Given the description of an element on the screen output the (x, y) to click on. 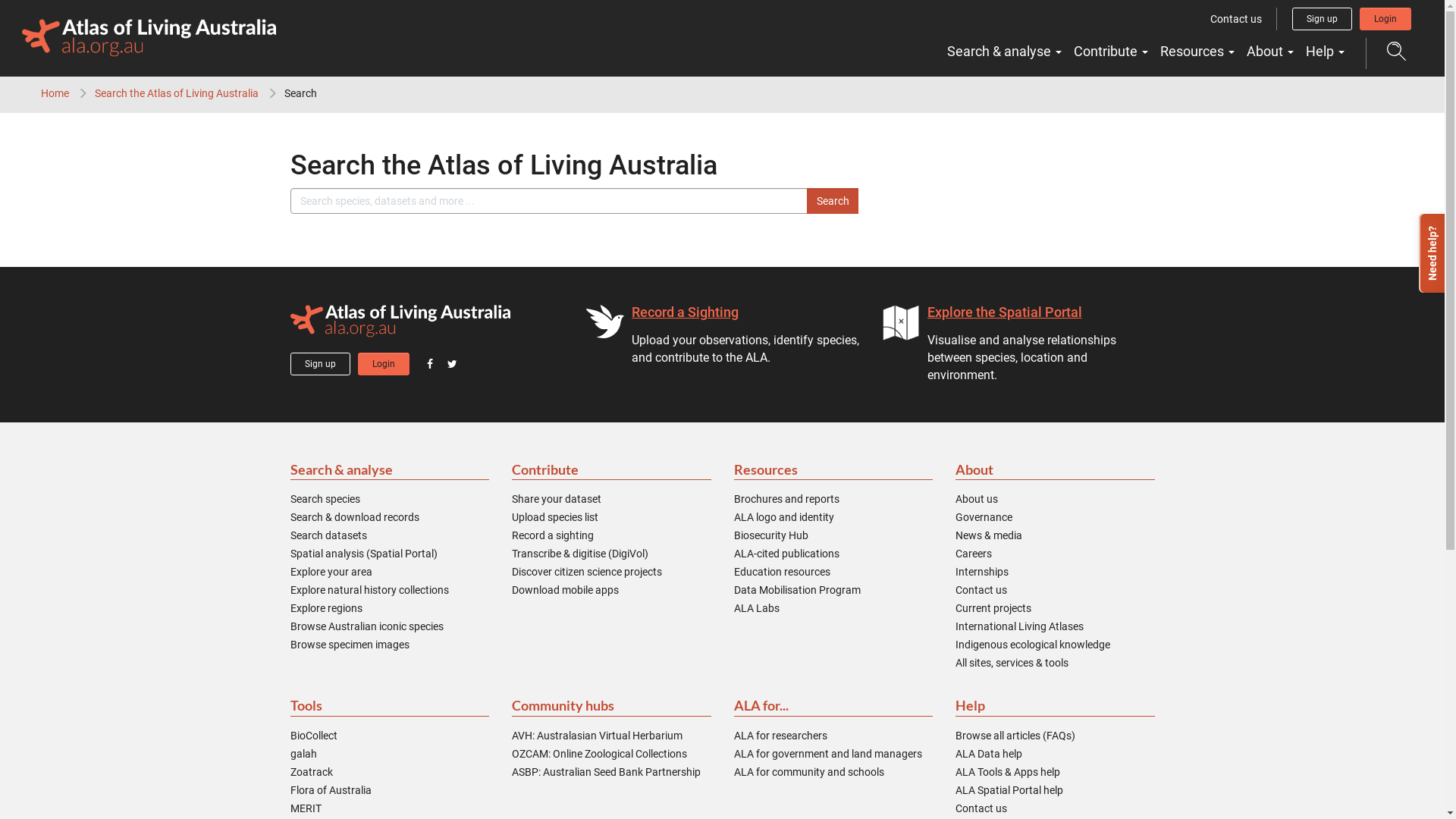
ALA Data help Element type: text (988, 753)
Flora of Australia Element type: text (329, 789)
Explore your area Element type: text (330, 571)
About us Element type: text (976, 498)
Education resources Element type: text (782, 571)
Search datasets Element type: text (327, 534)
Record a Sighting Element type: text (683, 312)
Indigenous ecological knowledge Element type: text (1032, 644)
Contact us Element type: text (981, 807)
News & media Element type: text (988, 534)
Share your dataset Element type: text (556, 498)
Record a sighting Element type: text (552, 534)
International Living Atlases Element type: text (1019, 625)
About Element type: text (1054, 470)
Login Element type: text (383, 363)
Resources Element type: text (1197, 51)
Search & download records Element type: text (353, 516)
Contribute Element type: text (1110, 51)
OZCAM: Online Zoological Collections Element type: text (599, 753)
Download mobile apps Element type: text (564, 589)
Spatial analysis (Spatial Portal) Element type: text (362, 553)
Data Mobilisation Program Element type: text (797, 589)
Zoatrack Element type: text (310, 771)
Explore regions Element type: text (325, 607)
Biosecurity Hub Element type: text (771, 534)
Search the Atlas of Living Australia Element type: text (176, 93)
Home Element type: text (54, 93)
Browse specimen images Element type: text (348, 644)
Brochures and reports Element type: text (786, 498)
Search & analyse Element type: text (389, 470)
Resources Element type: text (833, 470)
ALA for researchers Element type: text (780, 735)
Search & analyse Element type: text (1004, 51)
About Element type: text (1269, 51)
Tools Element type: text (389, 706)
Explore natural history collections Element type: text (368, 589)
ALA Labs Element type: text (756, 607)
Internships Element type: text (981, 571)
ALA logo and identity Element type: text (784, 516)
Browse Australian iconic species Element type: text (365, 625)
All sites, services & tools Element type: text (1011, 662)
Governance Element type: text (983, 516)
Contact us Element type: text (981, 589)
Search Element type: text (832, 200)
Transcribe & digitise (DigiVol) Element type: text (579, 553)
Discover citizen science projects Element type: text (586, 571)
Search species Element type: text (324, 498)
AVH: Australasian Virtual Herbarium Element type: text (596, 735)
Contact us Element type: text (1235, 18)
MERIT Element type: text (304, 807)
Help Element type: text (1054, 706)
BioCollect Element type: text (312, 735)
Explore the Spatial Portal Element type: text (1003, 312)
Login Element type: text (1385, 18)
galah Element type: text (302, 753)
Browse all articles (FAQs) Element type: text (1015, 735)
Sign up Element type: text (1322, 18)
Contribute Element type: text (611, 470)
ALA-cited publications Element type: text (786, 553)
Current projects Element type: text (993, 607)
ALA Spatial Portal help Element type: text (1009, 789)
Help Element type: text (1324, 51)
Community hubs Element type: text (611, 706)
ALA for community and schools Element type: text (809, 771)
ALA Tools & Apps help Element type: text (1007, 771)
ALA for... Element type: text (833, 706)
Upload species list Element type: text (554, 516)
Careers Element type: text (973, 553)
ASBP: Australian Seed Bank Partnership Element type: text (605, 771)
Sign up Element type: text (319, 363)
ALA for government and land managers Element type: text (828, 753)
